Given the description of an element on the screen output the (x, y) to click on. 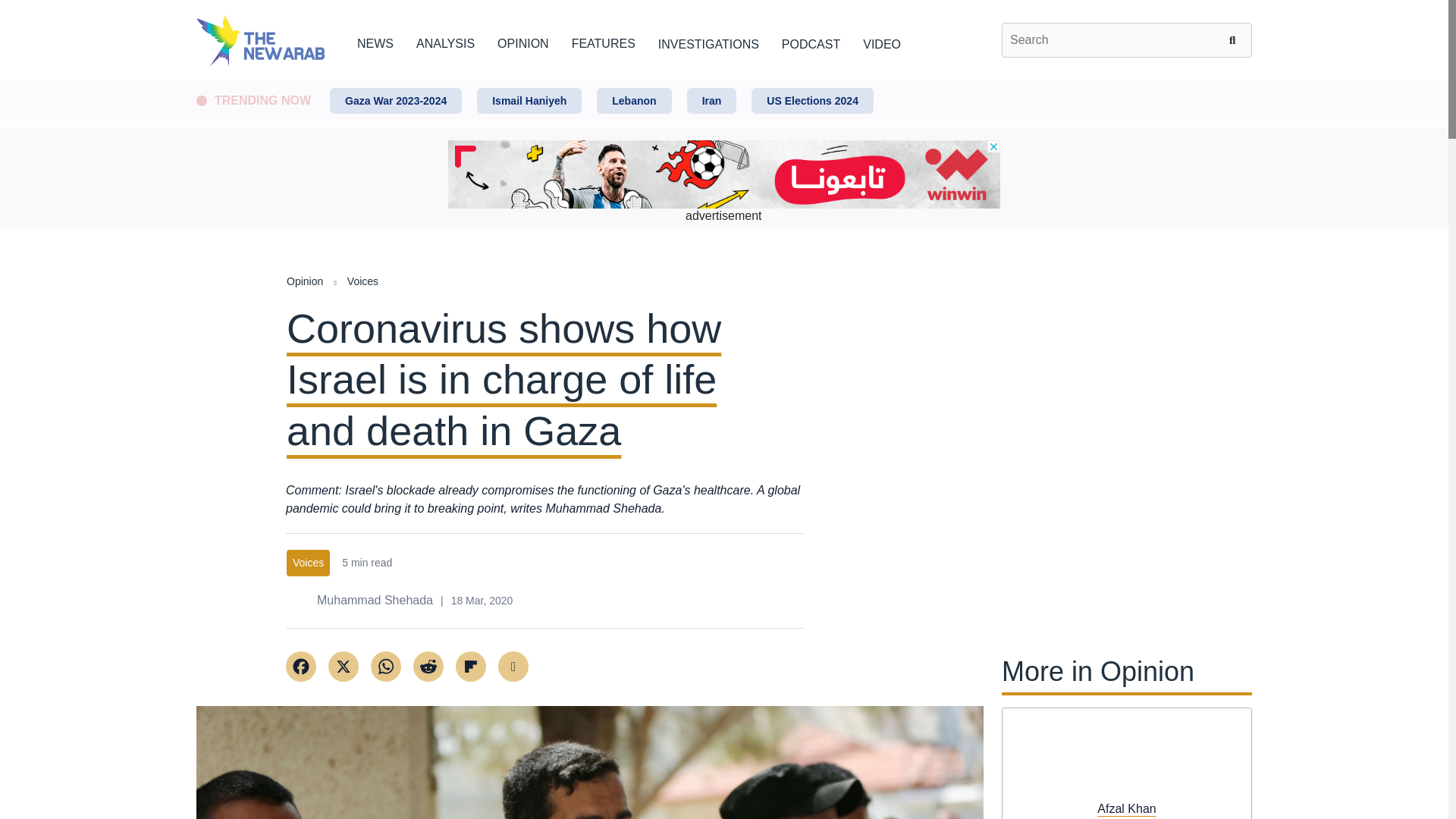
Skip to main content (724, 81)
Search (1234, 39)
ANALYSIS (445, 41)
OPINION (523, 41)
NEWS (375, 41)
